Given the description of an element on the screen output the (x, y) to click on. 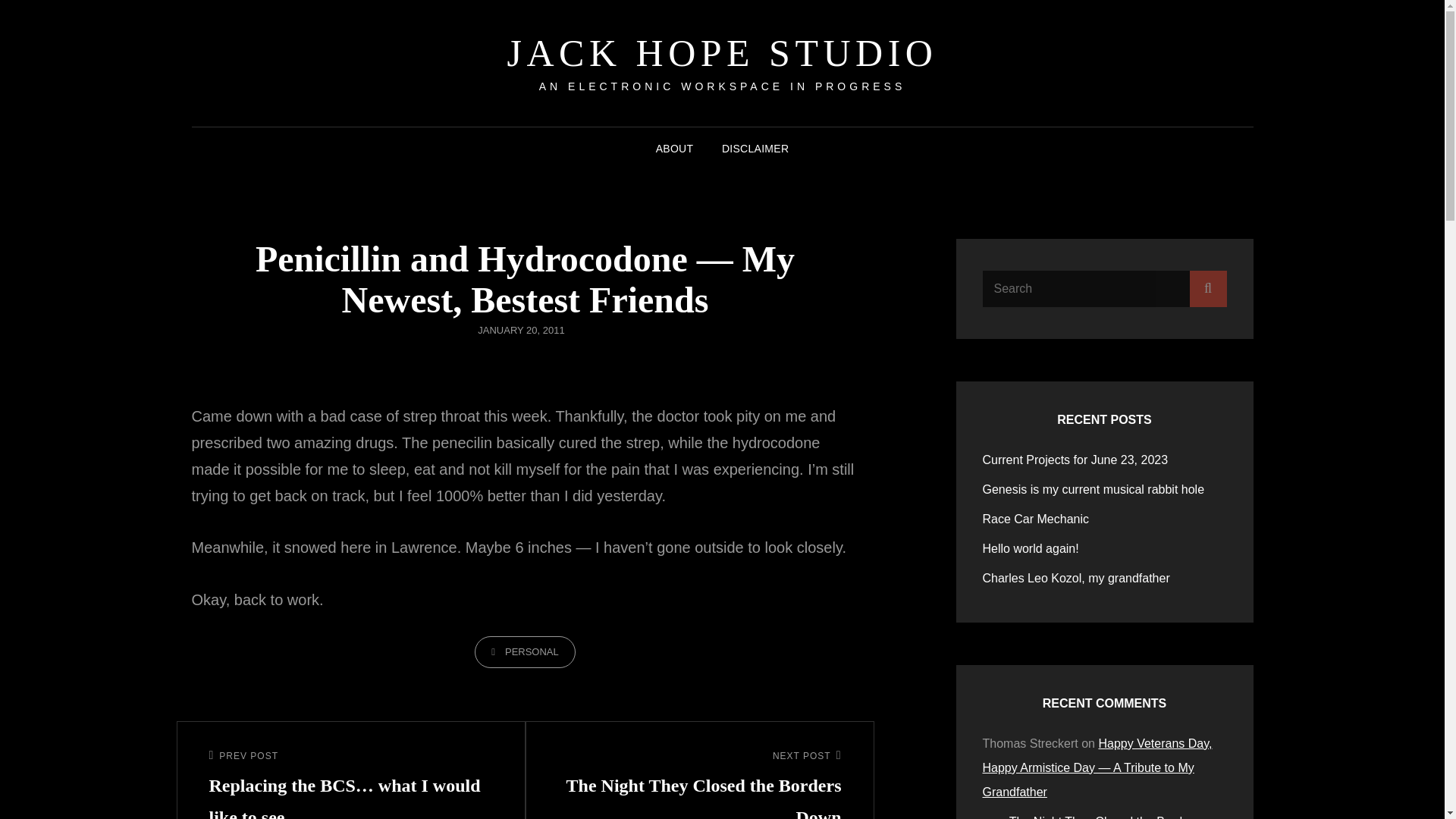
DISCLAIMER (755, 148)
Search (1207, 288)
JACK HOPE STUDIO (699, 783)
PERSONAL (721, 52)
JANUARY 20, 2011 (524, 652)
Charles Leo Kozol, my grandfather (520, 329)
Current Projects for June 23, 2023 (1076, 577)
Hello world again! (1075, 459)
Race Car Mechanic (1030, 548)
The Night They Closed the Borders Down (1035, 518)
ABOUT (1090, 816)
Genesis is my current musical rabbit hole (674, 148)
